Given the description of an element on the screen output the (x, y) to click on. 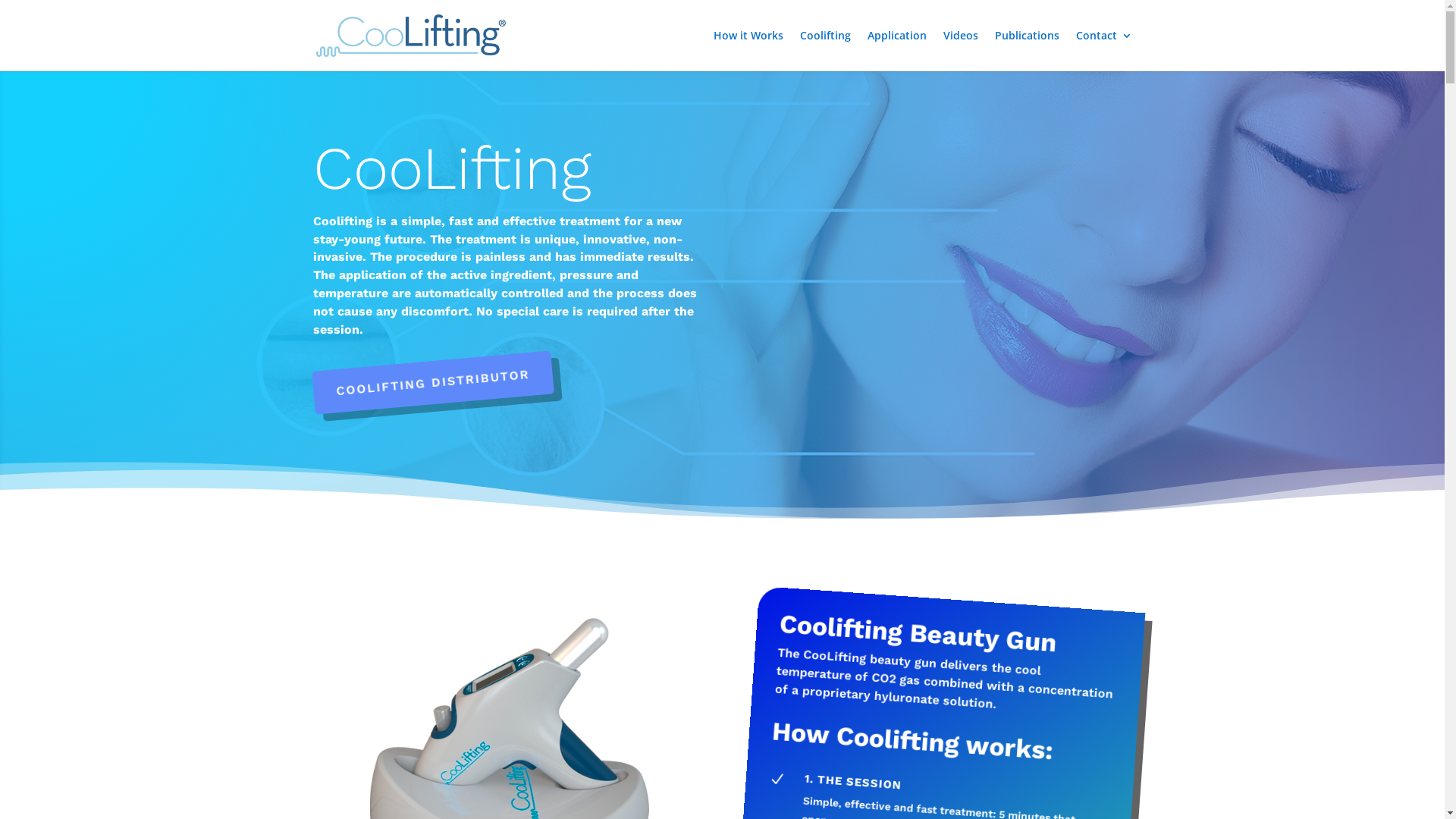
Contact Element type: text (1103, 50)
Coolifting Element type: text (824, 50)
COOLIFTING DISTRIBUTOR Element type: text (431, 371)
Application Element type: text (896, 50)
Videos Element type: text (960, 50)
Publications Element type: text (1026, 50)
How it Works Element type: text (747, 50)
